Given the description of an element on the screen output the (x, y) to click on. 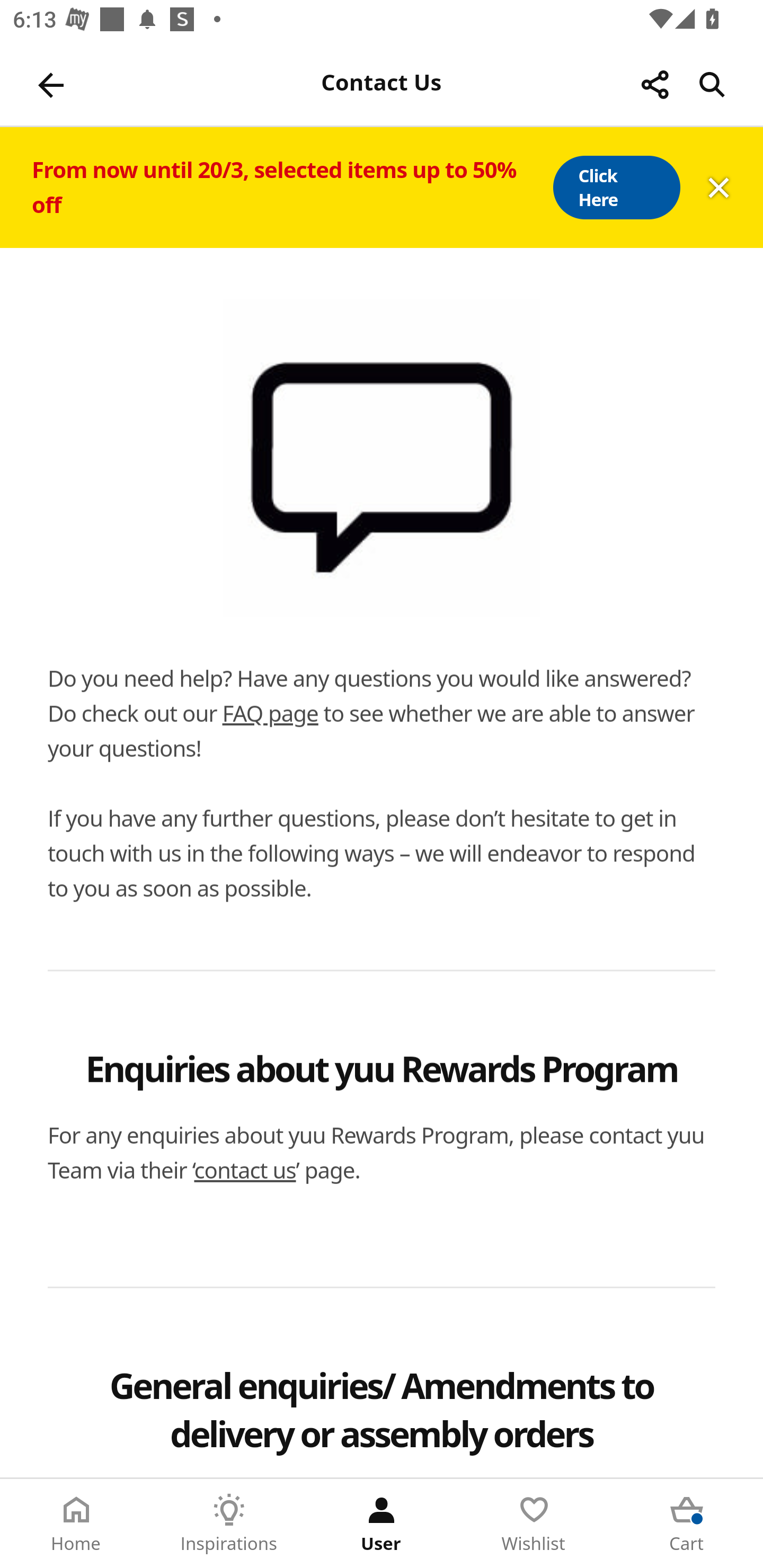
Click Here (615, 187)
FAQ page (270, 713)
contact us (245, 1169)
Home
Tab 1 of 5 (76, 1522)
Inspirations
Tab 2 of 5 (228, 1522)
User
Tab 3 of 5 (381, 1522)
Wishlist
Tab 4 of 5 (533, 1522)
Cart
Tab 5 of 5 (686, 1522)
